Given the description of an element on the screen output the (x, y) to click on. 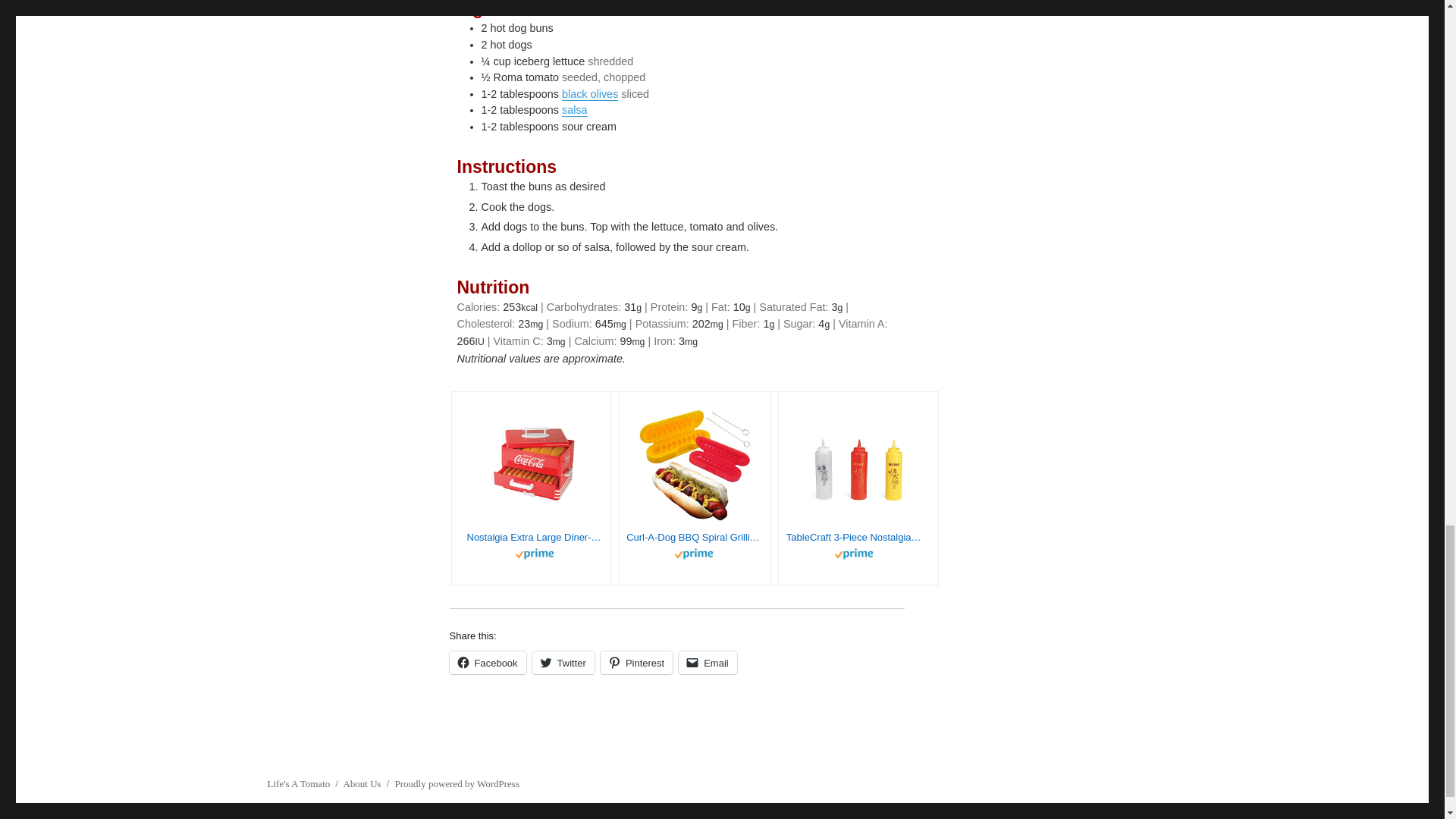
Click to email a link to a friend (707, 662)
Click to share on Twitter (563, 662)
Curl-A-Dog BBQ Spiral Grilling Hot Dog Sausage Slicers (694, 537)
salsa (575, 110)
Curl-A-Dog BBQ Spiral Grilling Hot Dog Sausage Slicers (694, 537)
black olives (589, 93)
TableCraft 3-Piece Nostalgia Squeeze Bottle Set, 12-Ounce (854, 537)
Click to share on Facebook (486, 662)
Click to share on Pinterest (635, 662)
TableCraft 3-Piece Nostalgia Squeeze Bottle Set, 12-Ounce (854, 537)
